Given the description of an element on the screen output the (x, y) to click on. 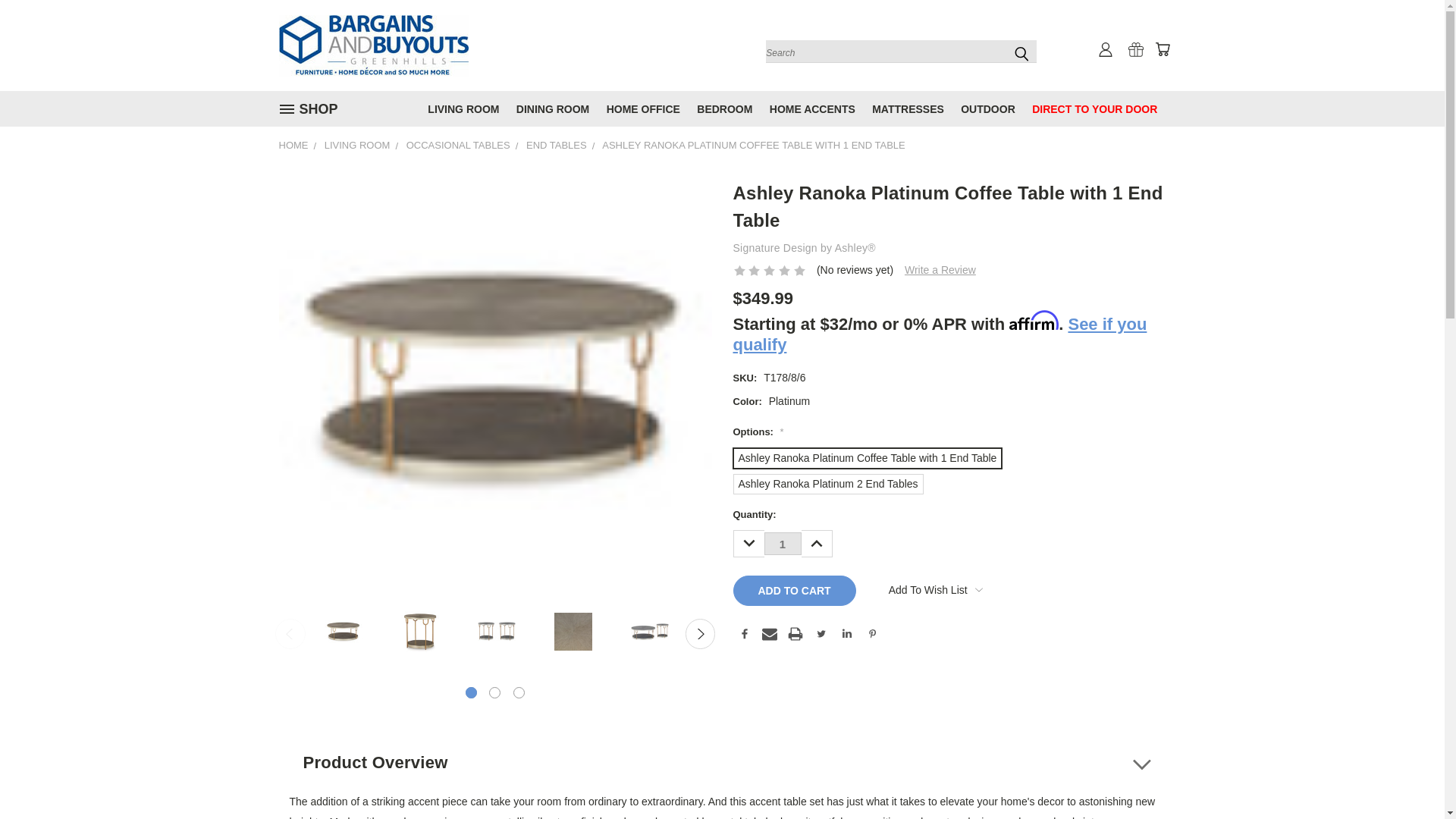
SHOP (312, 109)
Ashley Ranoka Platinum Coffee Table with 1 End Table (496, 631)
Bargains and Buyouts (373, 45)
Ashley Ranoka Platinum Coffee Table with 1 End Table (495, 380)
Ashley Ranoka Platinum Coffee Table with 1 End Table (420, 631)
Submit Search (1021, 53)
Affirm (721, 775)
1 (783, 543)
Add to Cart (794, 590)
Ashley Ranoka Platinum Coffee Table with 1 End Table (649, 631)
Ashley Ranoka Platinum Coffee Table with 1 End Table (573, 631)
Ashley Ranoka Platinum Coffee Table with 1 End Table (343, 631)
Gift Certificates (1135, 48)
